Given the description of an element on the screen output the (x, y) to click on. 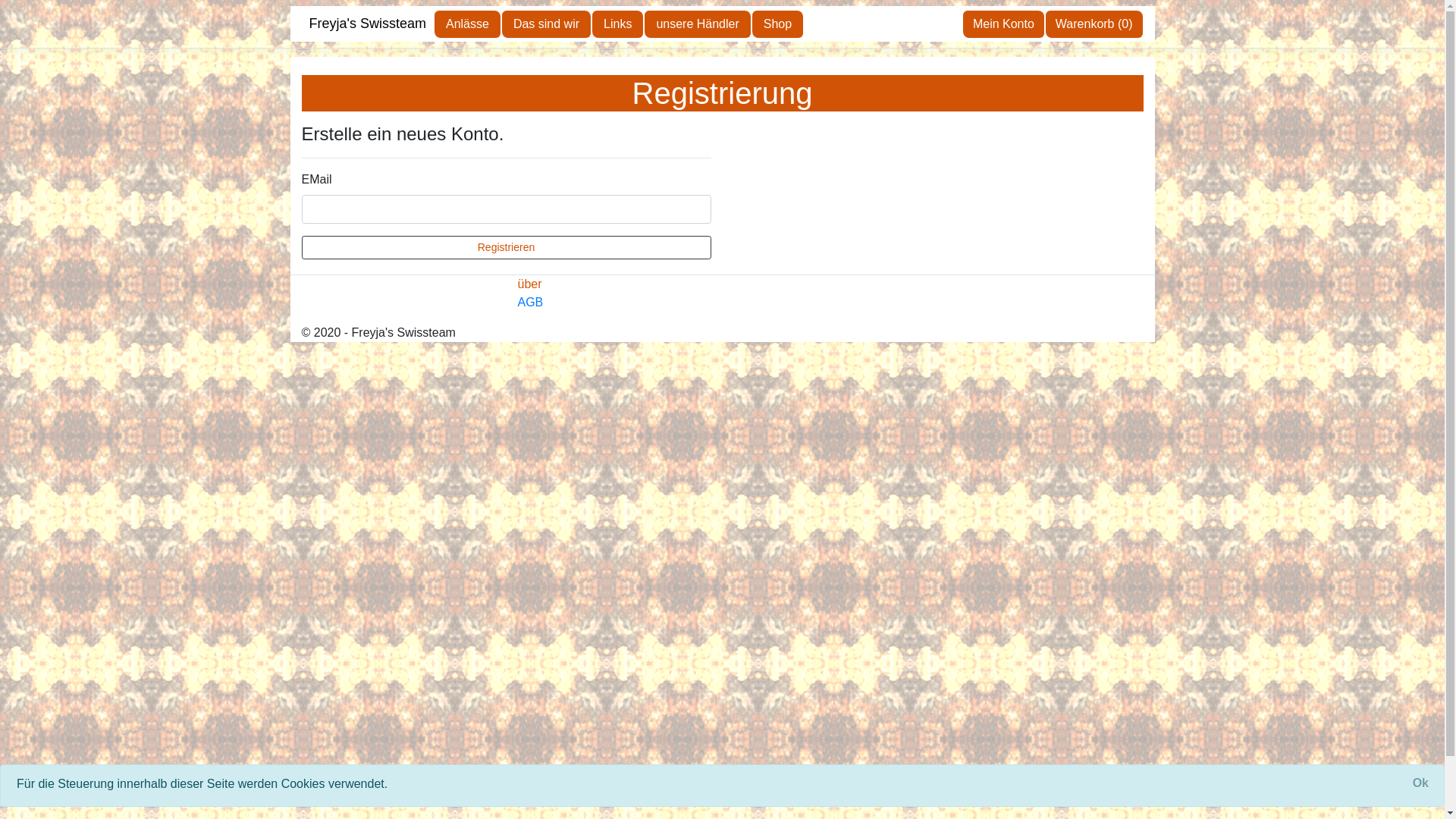
Ok Element type: text (1420, 783)
Registrieren Element type: text (506, 247)
Das sind wir Element type: text (545, 23)
Warenkorb (0) Element type: text (1094, 23)
Freyja's Swissteam Element type: text (367, 23)
Shop Element type: text (777, 23)
AGB Element type: text (529, 301)
Mein Konto Element type: text (1003, 23)
Links Element type: text (617, 23)
